Given the description of an element on the screen output the (x, y) to click on. 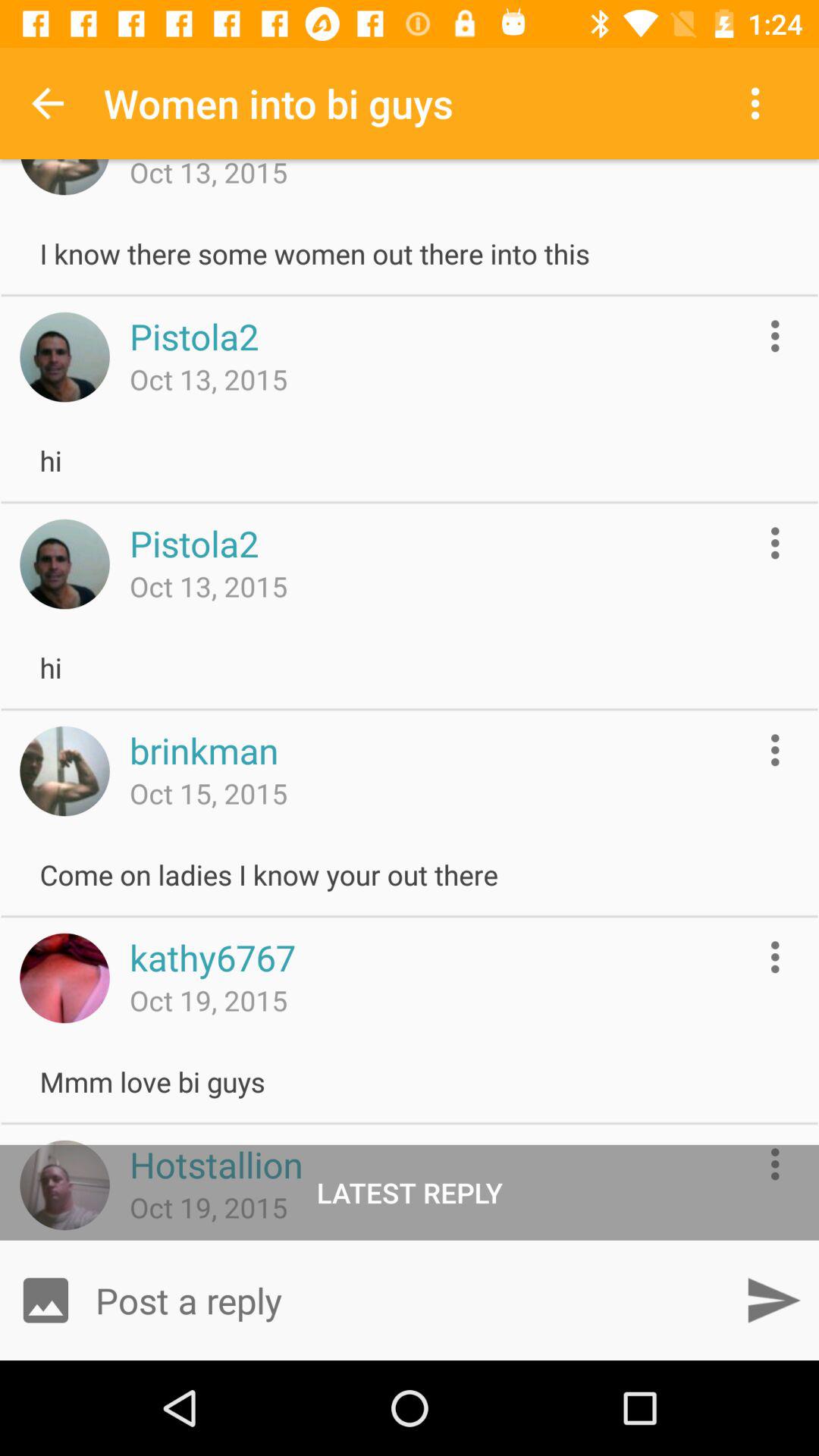
go to profile (64, 1185)
